Given the description of an element on the screen output the (x, y) to click on. 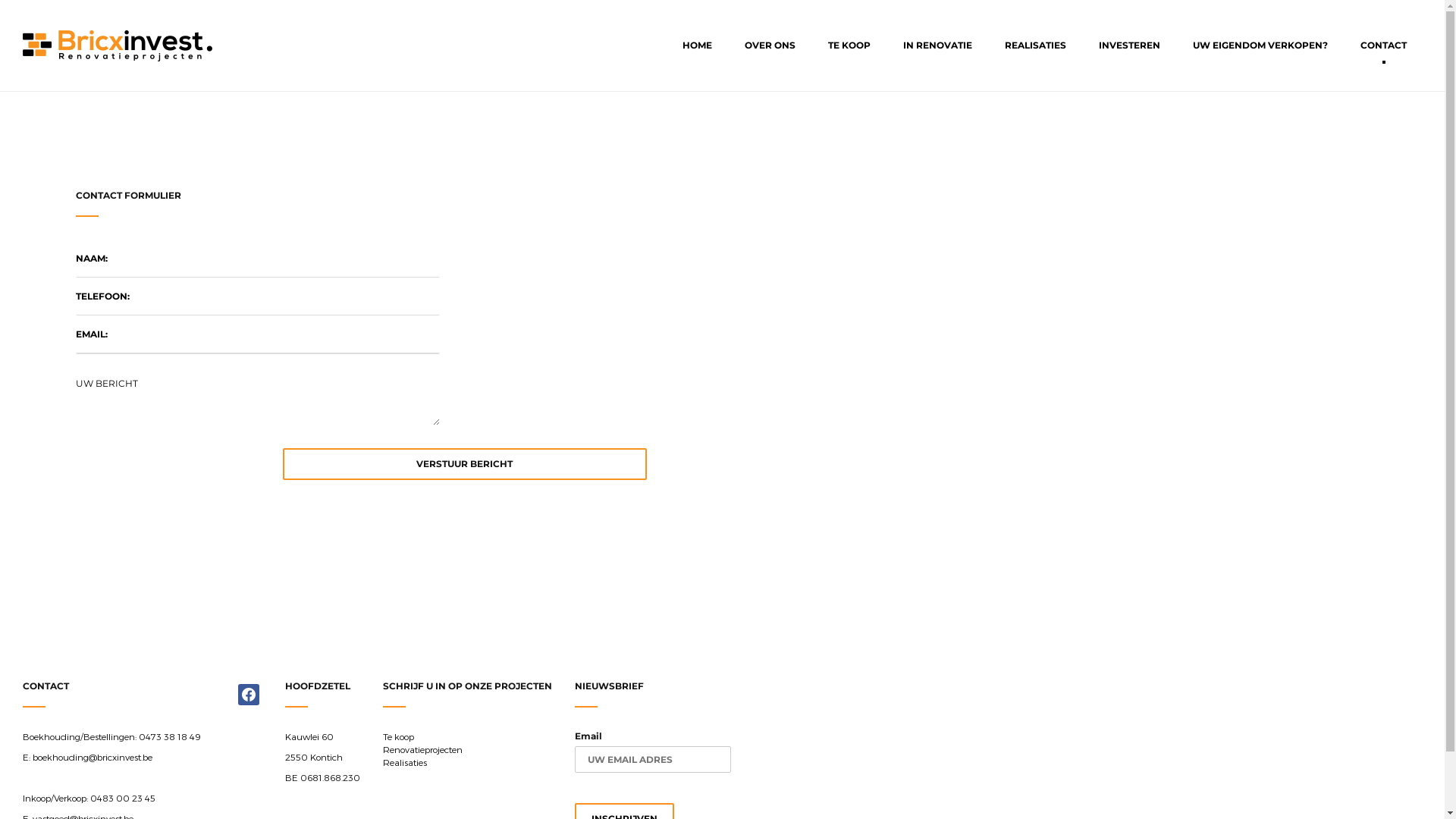
OVER ONS Element type: text (769, 45)
IN RENOVATIE Element type: text (937, 45)
REALISATIES Element type: text (1035, 45)
Te koop Element type: text (398, 736)
CONTACT Element type: text (1383, 45)
UW EIGENDOM VERKOPEN? Element type: text (1260, 45)
Verstuur Bericht Element type: text (464, 463)
Realisaties Element type: text (404, 761)
HOME Element type: text (697, 45)
Renovatieprojecten Element type: text (422, 748)
TE KOOP Element type: text (848, 45)
INVESTEREN Element type: text (1129, 45)
facebook Element type: text (248, 692)
